Given the description of an element on the screen output the (x, y) to click on. 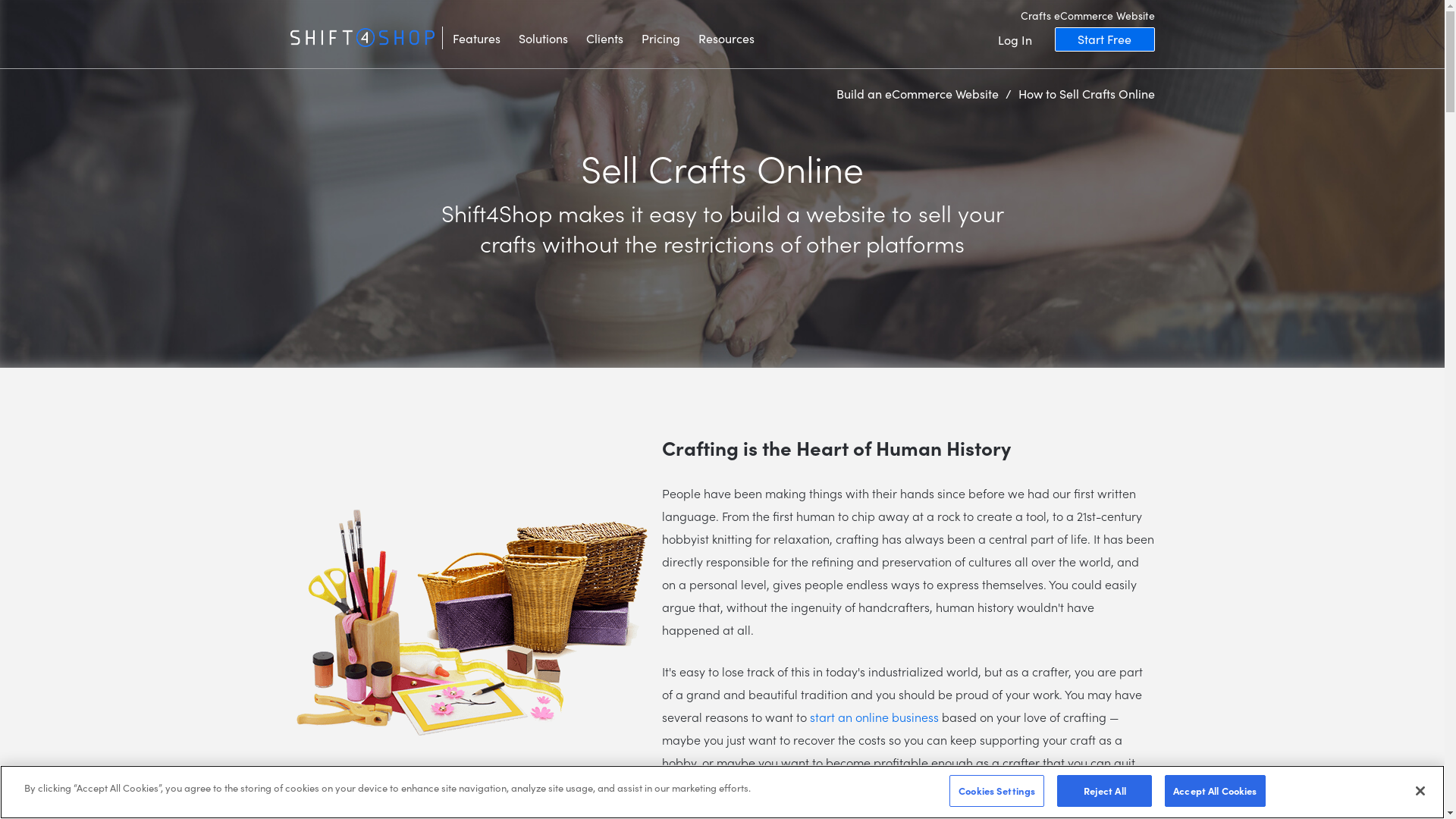
Clients Element type: text (603, 35)
Reject All Element type: text (1104, 790)
Solutions Element type: text (543, 35)
Resources Element type: text (725, 35)
Log In Element type: text (1014, 39)
ecommerce software Element type: hover (361, 37)
Features Element type: text (475, 35)
Build an eCommerce Website Element type: text (918, 92)
Pricing Element type: text (660, 35)
start an online business Element type: text (873, 716)
Cookies Settings Element type: text (996, 790)
Start Free Element type: text (1104, 39)
Sell Crafts Online Element type: hover (471, 621)
Accept All Cookies Element type: text (1214, 790)
How to Sell Crafts Online Element type: text (1085, 92)
